Given the description of an element on the screen output the (x, y) to click on. 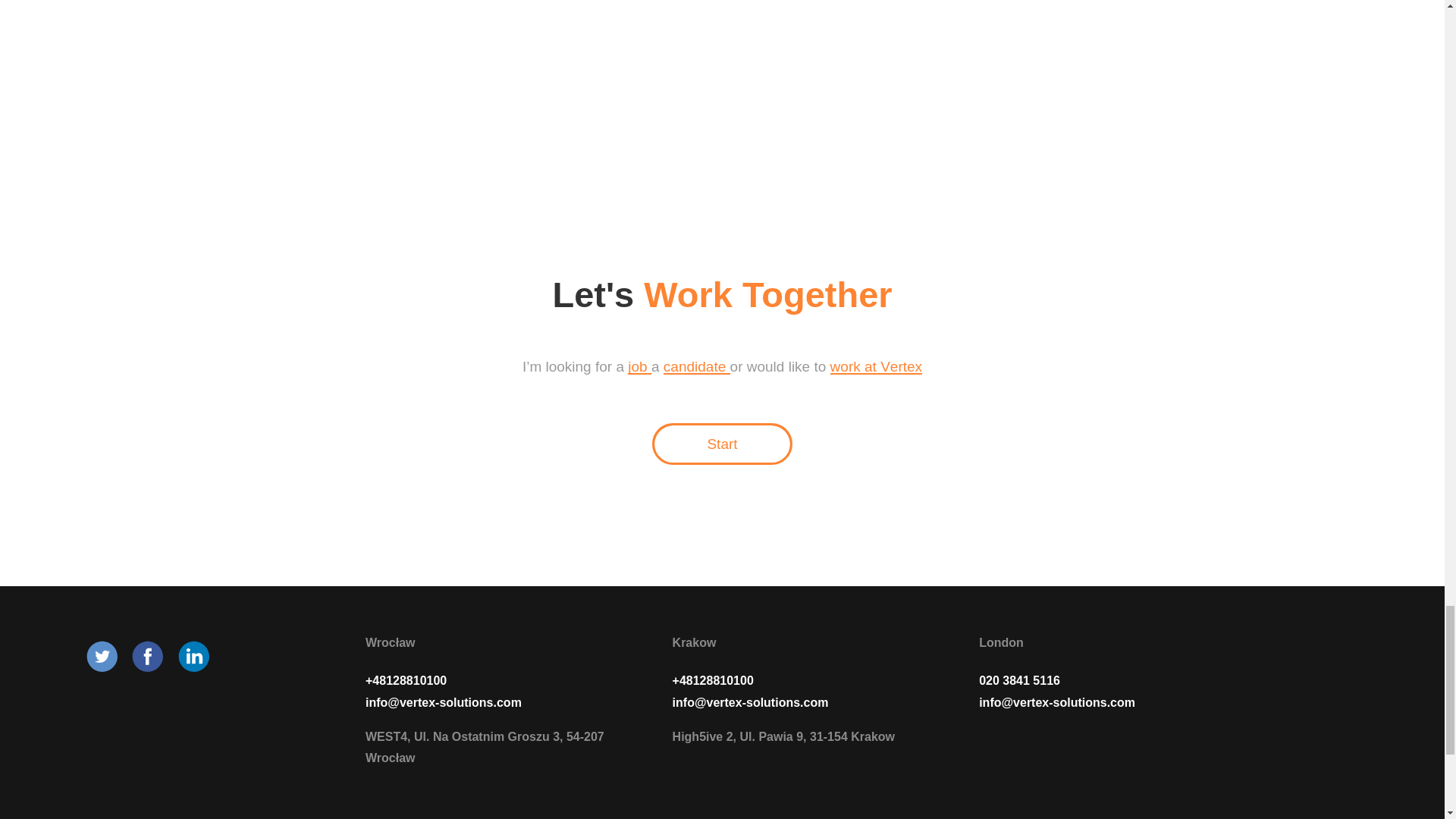
Start (721, 443)
Krakow (694, 642)
London (1000, 642)
High5ive 2, Ul. Pawia 9, 31-154 Krakow (783, 736)
020 3841 5116 (1018, 680)
